Given the description of an element on the screen output the (x, y) to click on. 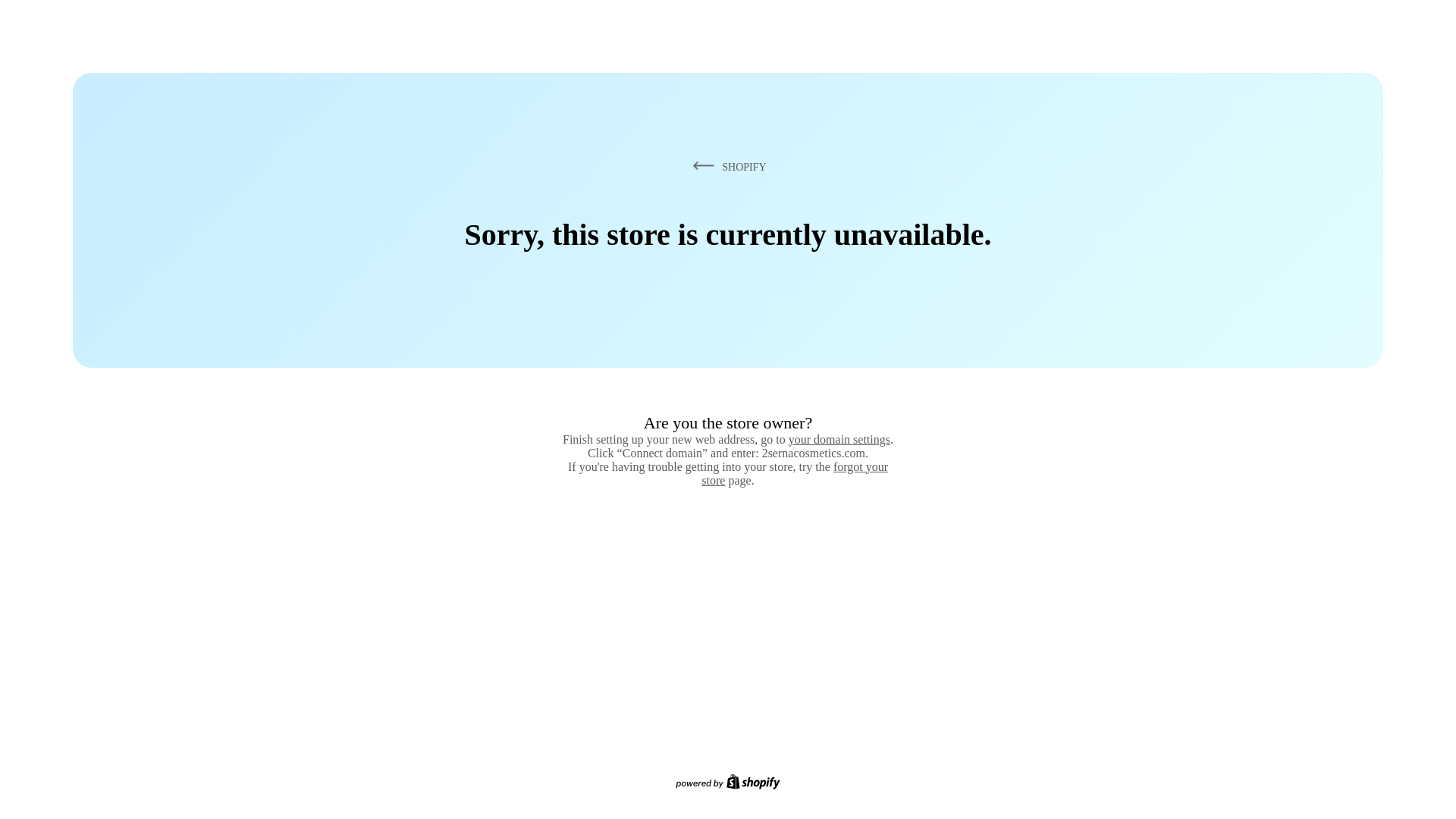
your domain settings Element type: text (839, 439)
SHOPIFY Element type: text (727, 166)
forgot your store Element type: text (794, 473)
